Given the description of an element on the screen output the (x, y) to click on. 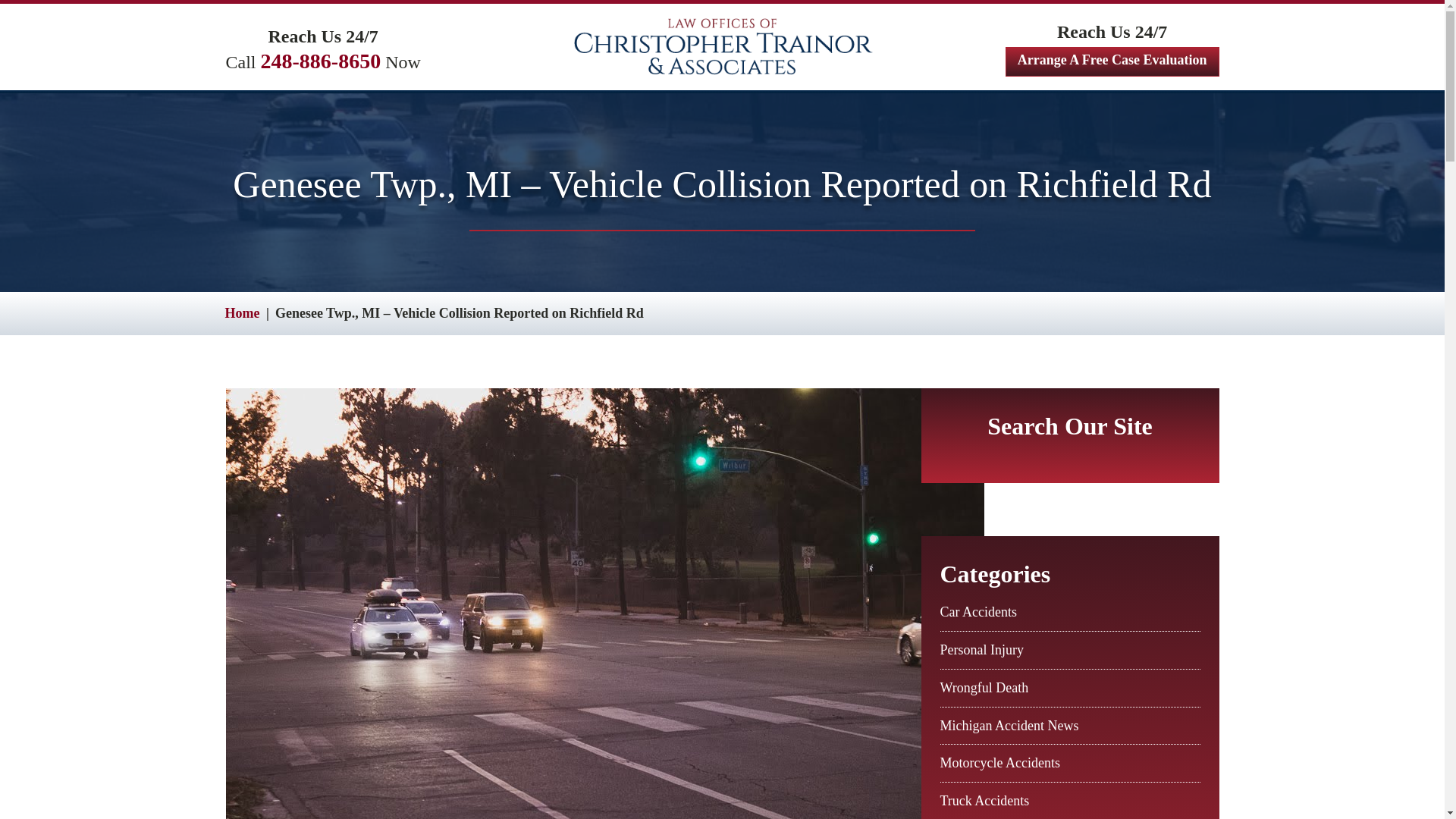
Wrongful Death (984, 687)
Truck Accidents (984, 800)
248-886-8650 (320, 60)
Personal Injury (981, 649)
Breadcrumb link to Home (241, 313)
Arrange A Free Case Evaluation (1113, 61)
Michigan Accident News (1009, 725)
Motorcycle Accidents (999, 762)
Home (241, 313)
Car Accidents (978, 611)
